Given the description of an element on the screen output the (x, y) to click on. 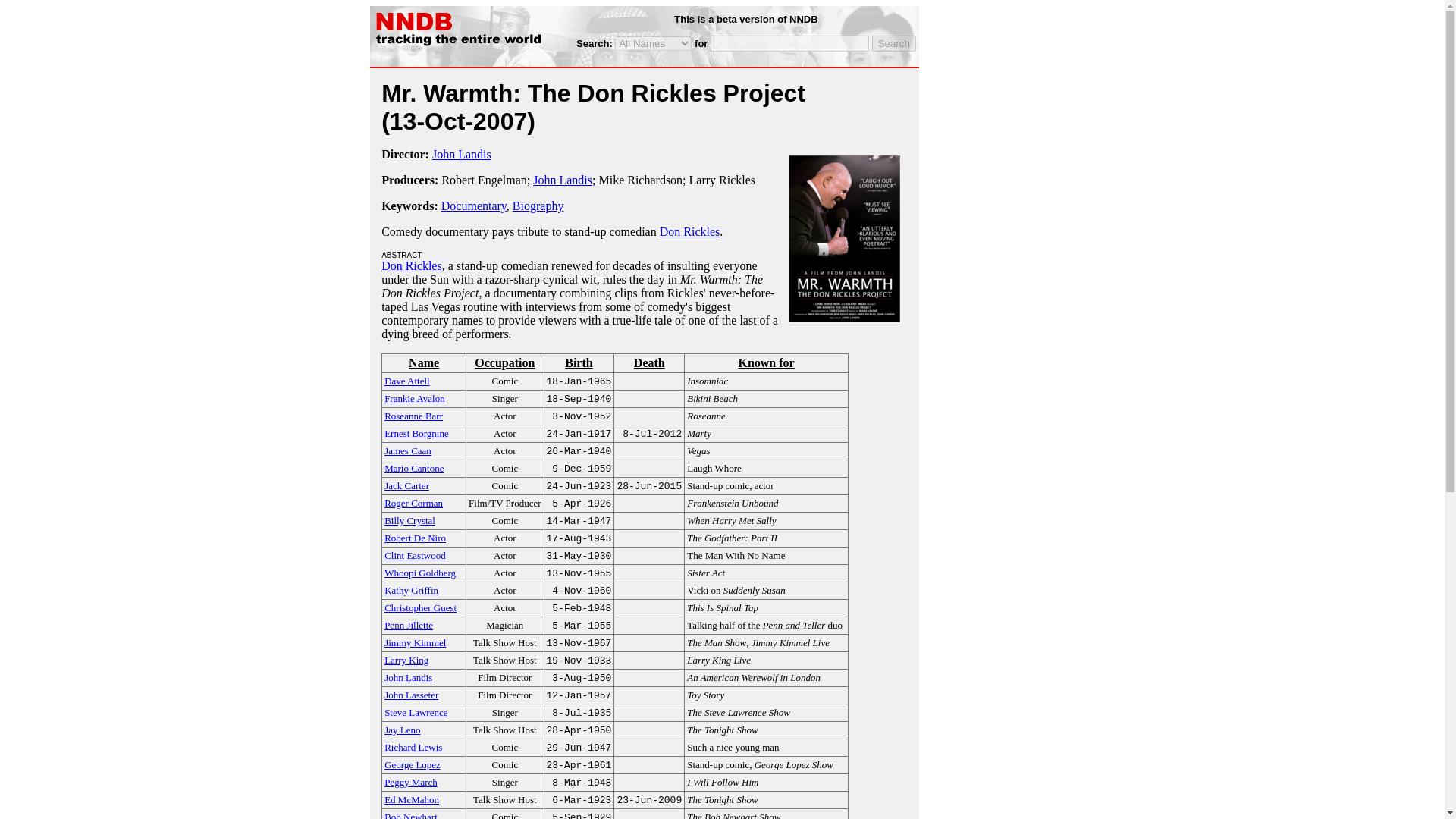
Death (648, 363)
Clint Eastwood (414, 554)
Penn Jillette (408, 624)
Name (423, 363)
Richard Lewis (413, 746)
Known for (766, 363)
Birth (579, 363)
Whoopi Goldberg (419, 571)
Roger Corman (413, 502)
Peggy March (411, 780)
